Given the description of an element on the screen output the (x, y) to click on. 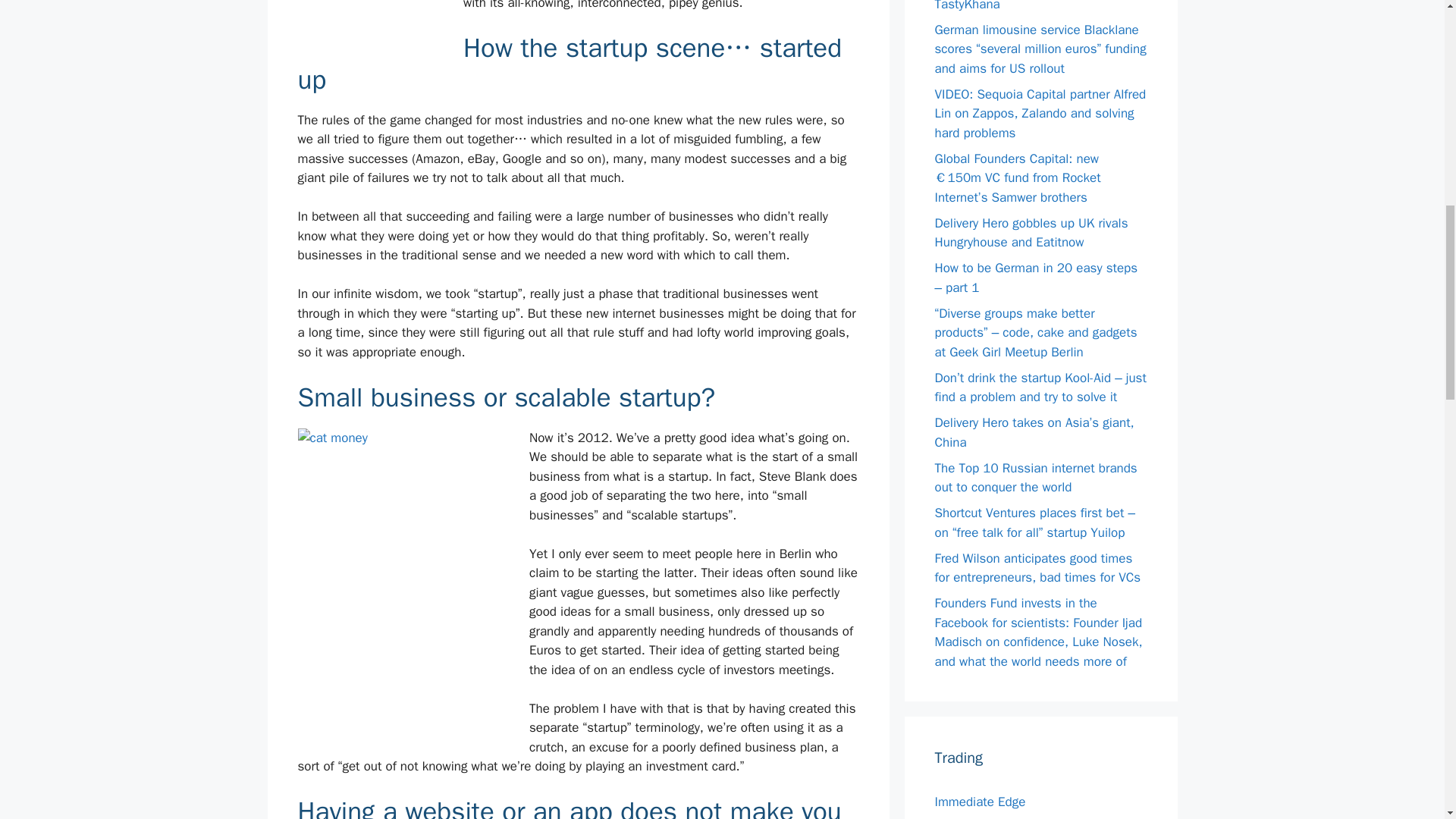
The Top 10 Russian internet brands out to conquer the world (1035, 477)
Delivery Hero gobbles up UK rivals Hungryhouse and Eatitnow (1030, 232)
monkey on the phone (370, 20)
Immediate Edge (979, 801)
